Given the description of an element on the screen output the (x, y) to click on. 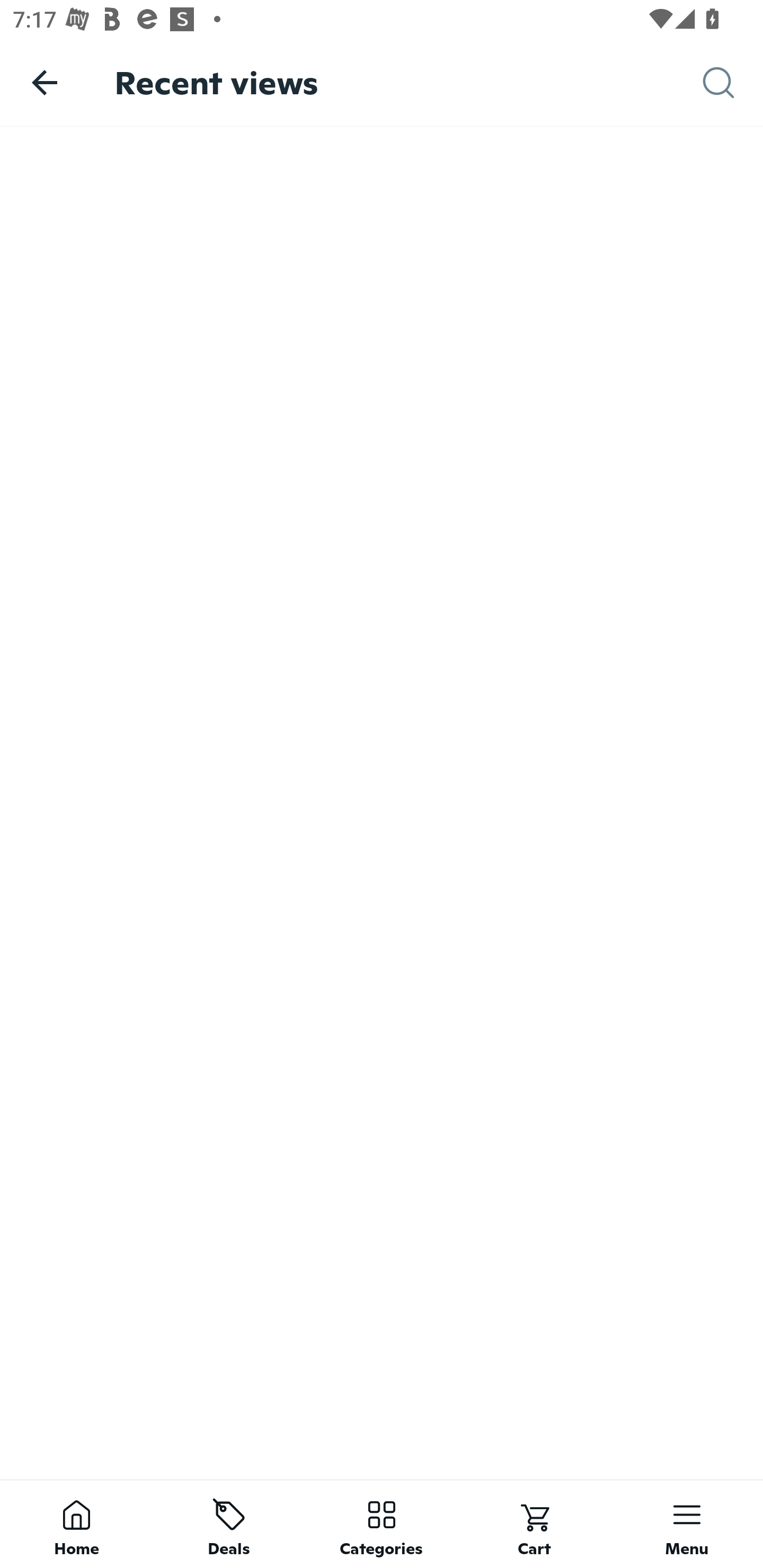
Navigate up (44, 82)
Search (732, 82)
Home (76, 1523)
Deals (228, 1523)
Categories (381, 1523)
Cart (533, 1523)
Menu (686, 1523)
